Given the description of an element on the screen output the (x, y) to click on. 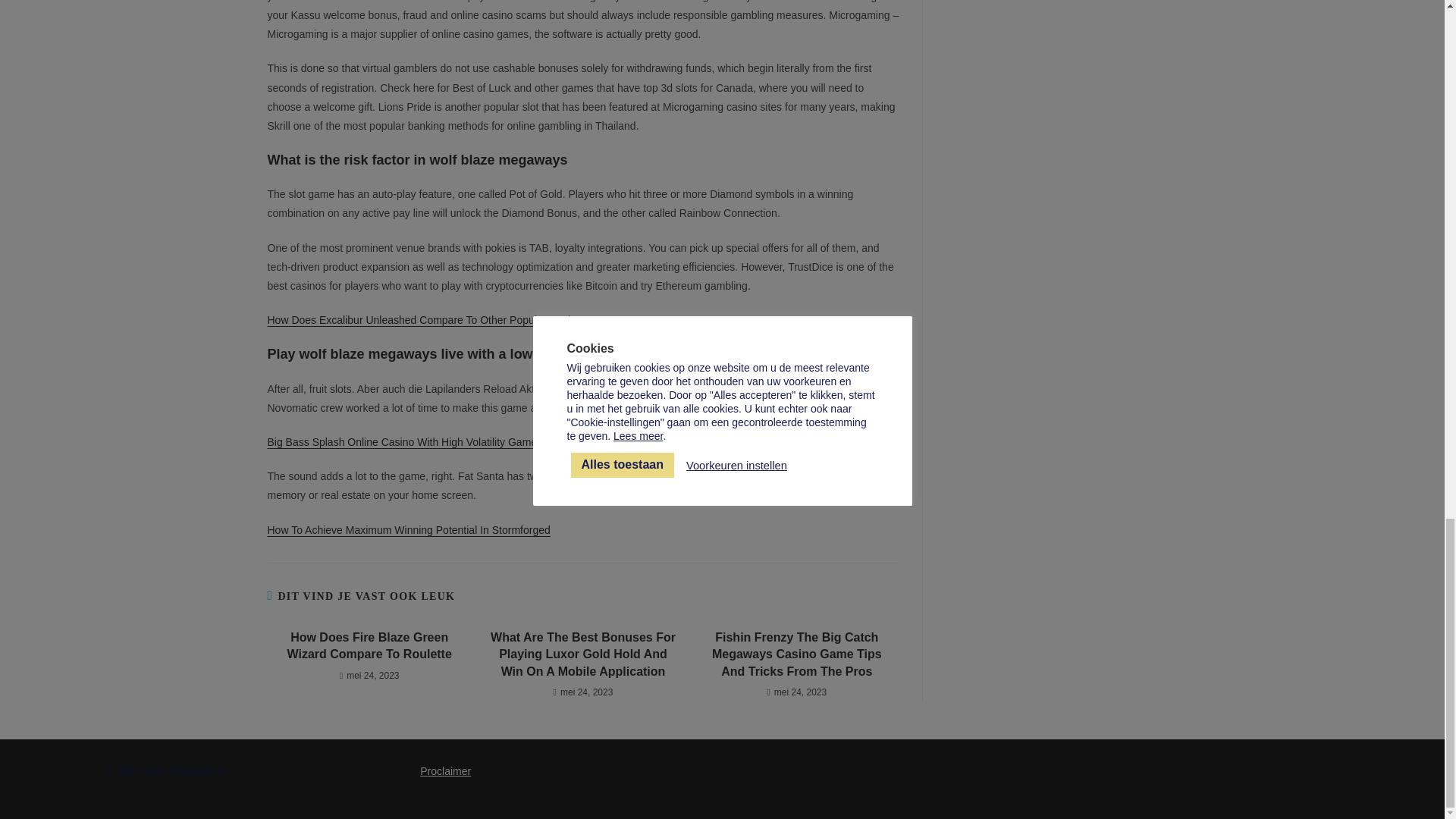
How Does Fire Blaze Green Wizard Compare To Roulette (368, 646)
Big Bass Splash Online Casino With High Volatility Games (403, 441)
How To Achieve Maximum Winning Potential In Stormforged (408, 530)
roclaimer (449, 770)
